Given the description of an element on the screen output the (x, y) to click on. 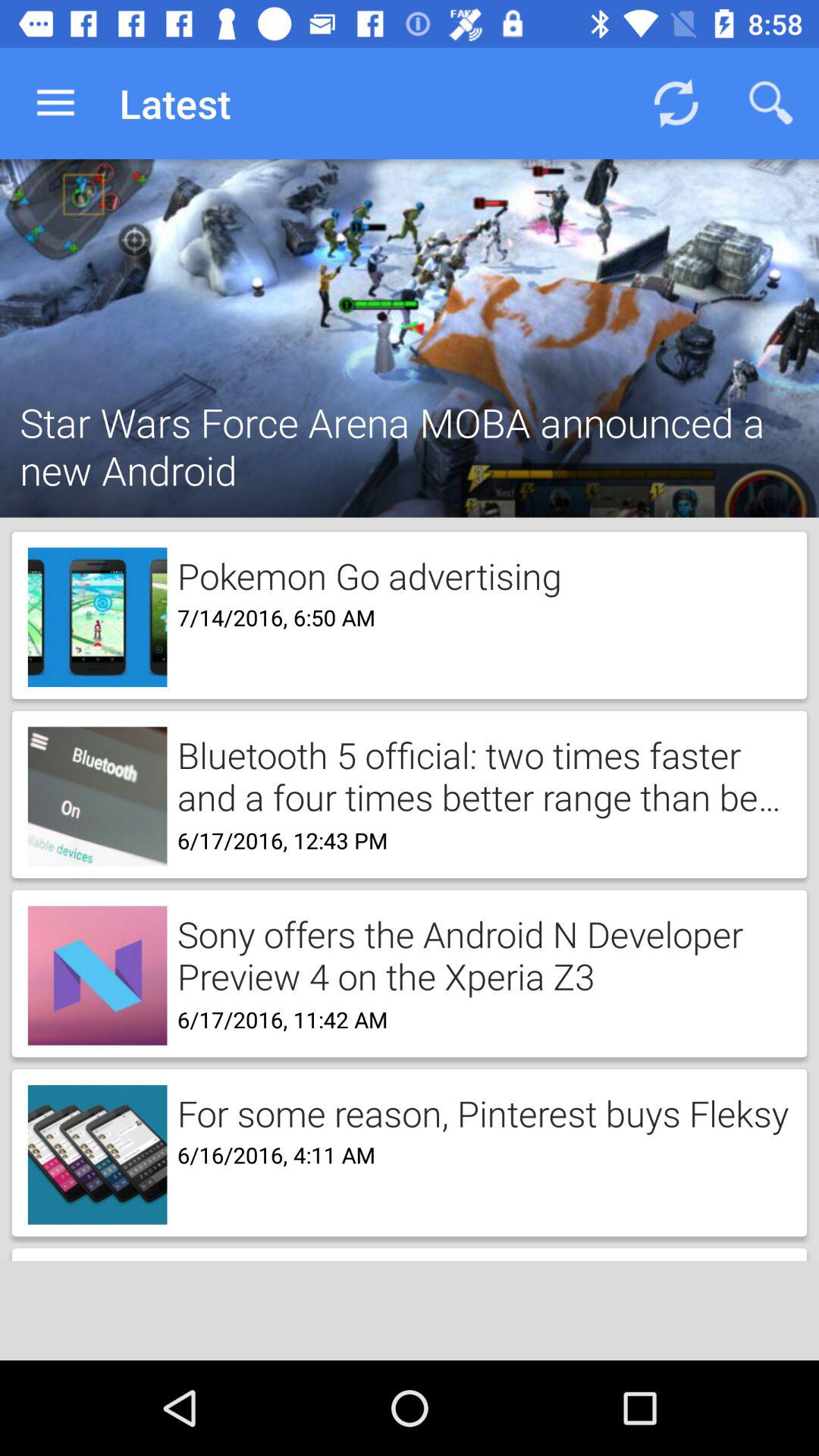
flip until the pokemon go advertising icon (364, 573)
